Given the description of an element on the screen output the (x, y) to click on. 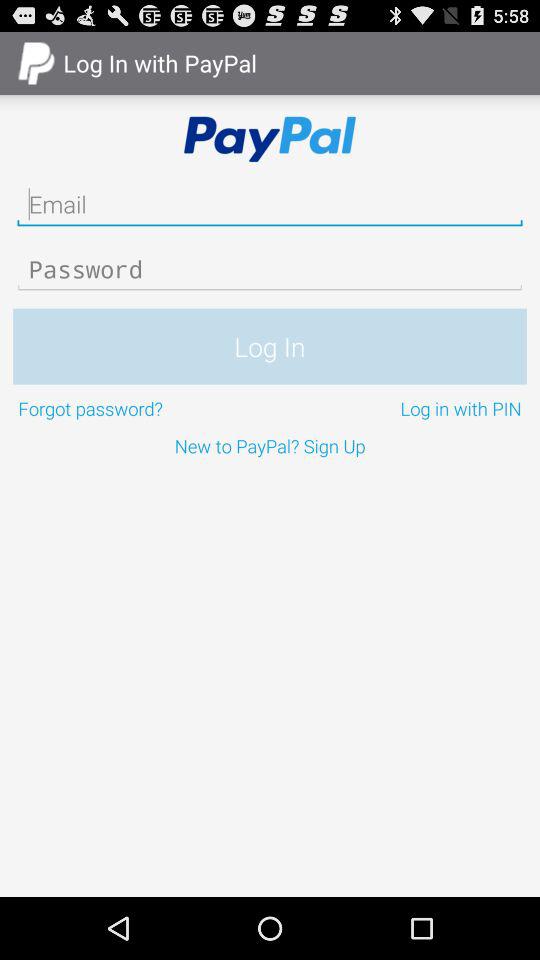
open item above new to paypal app (141, 408)
